Given the description of an element on the screen output the (x, y) to click on. 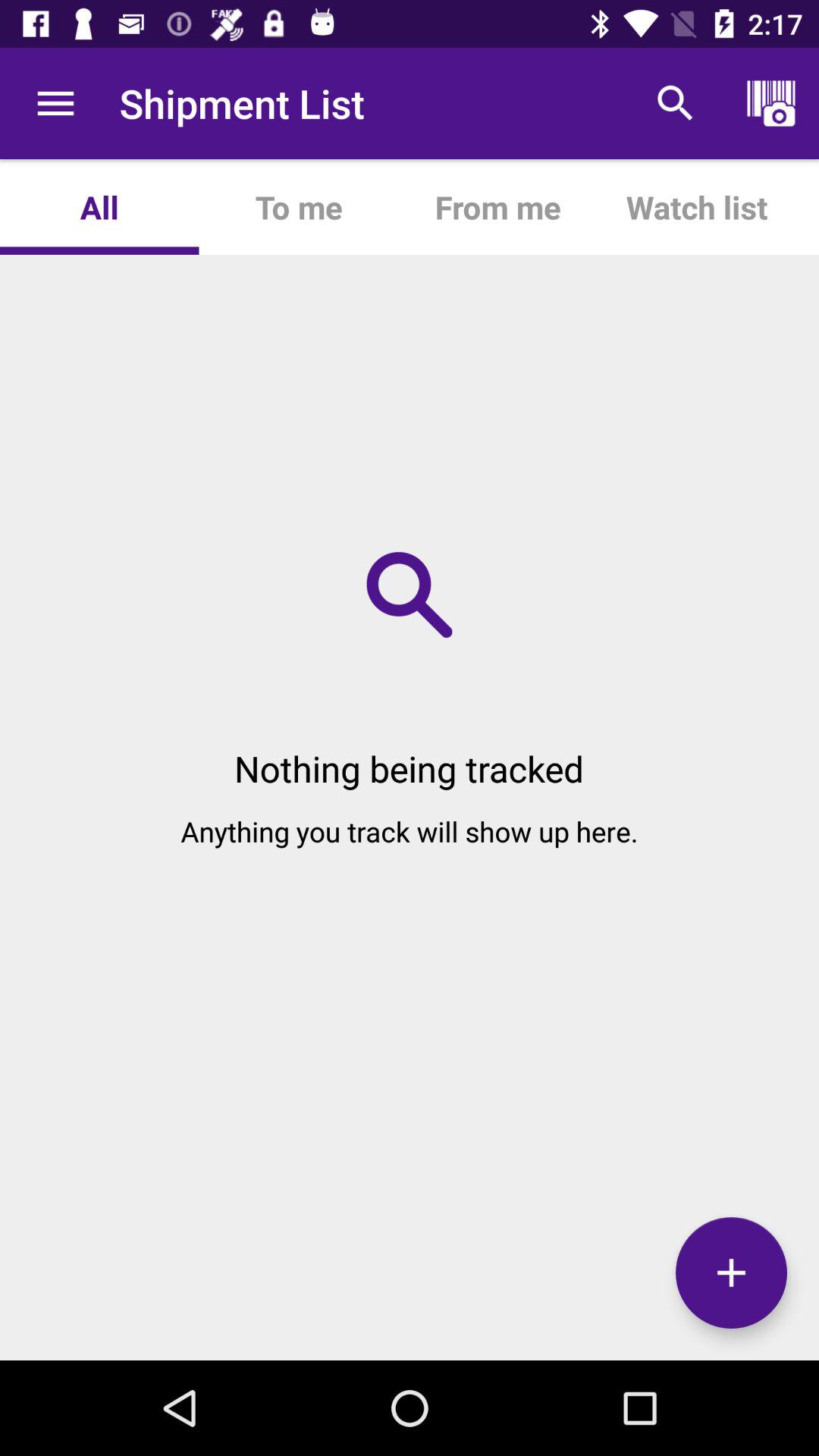
flip until the all icon (99, 206)
